Given the description of an element on the screen output the (x, y) to click on. 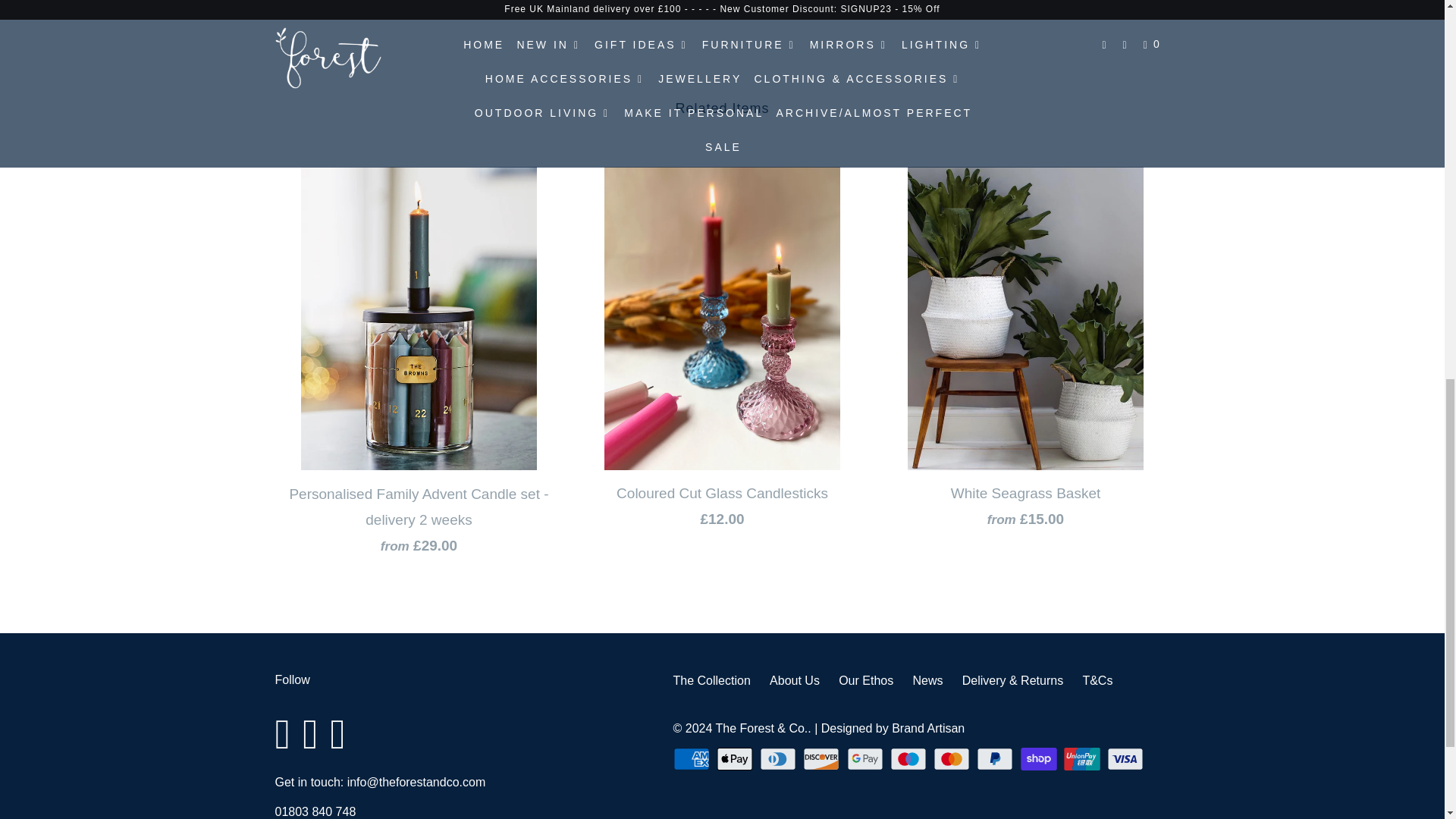
Maestro (909, 758)
Apple Pay (735, 758)
PayPal (996, 758)
Google Pay (866, 758)
American Express (692, 758)
Union Pay (1083, 758)
Visa (1126, 758)
Discover (823, 758)
Shop Pay (1039, 758)
Mastercard (952, 758)
